Given the description of an element on the screen output the (x, y) to click on. 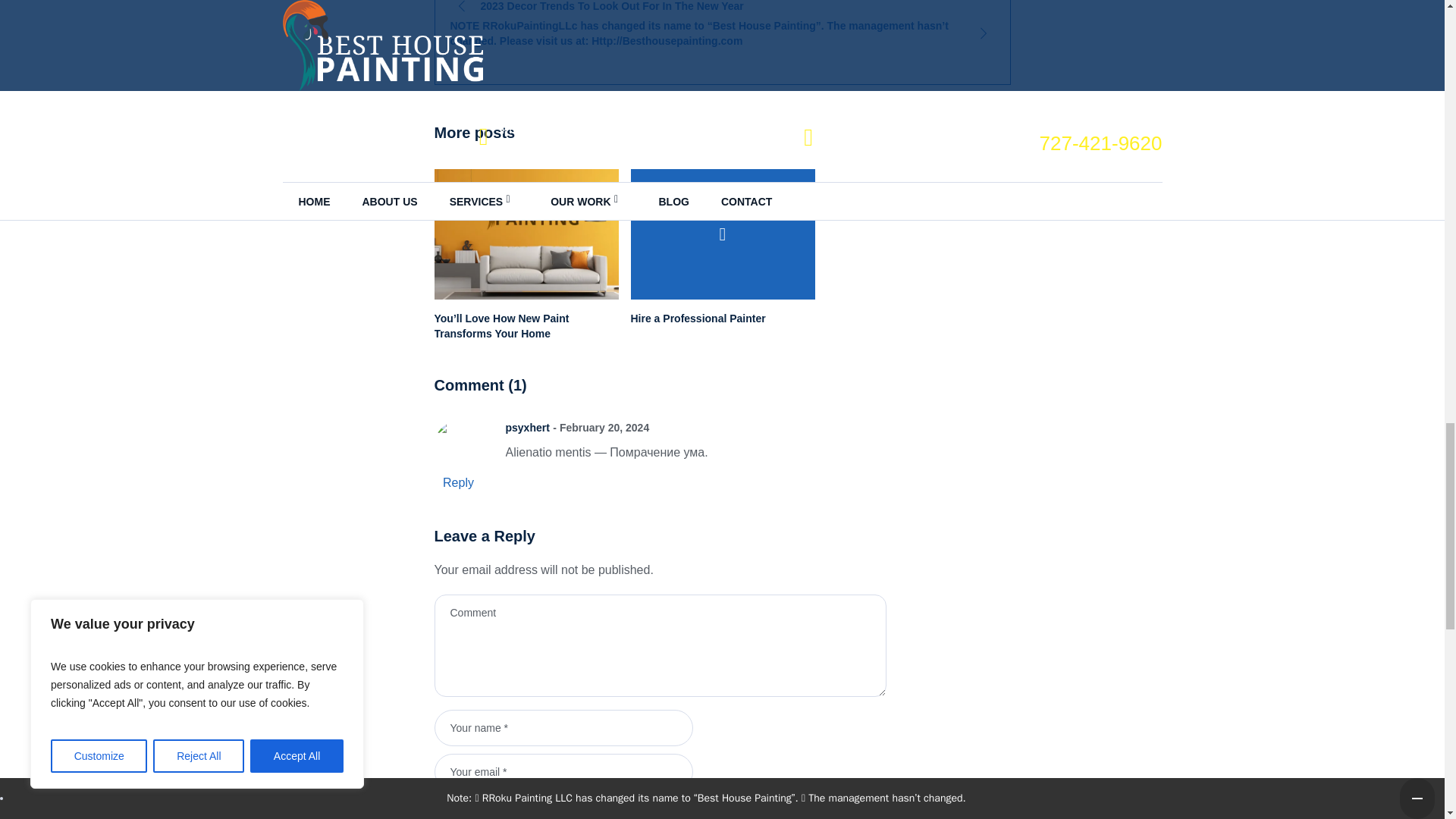
February 20, 2024 (601, 427)
yes (438, 806)
Hire a Professional Painter (722, 233)
